Given the description of an element on the screen output the (x, y) to click on. 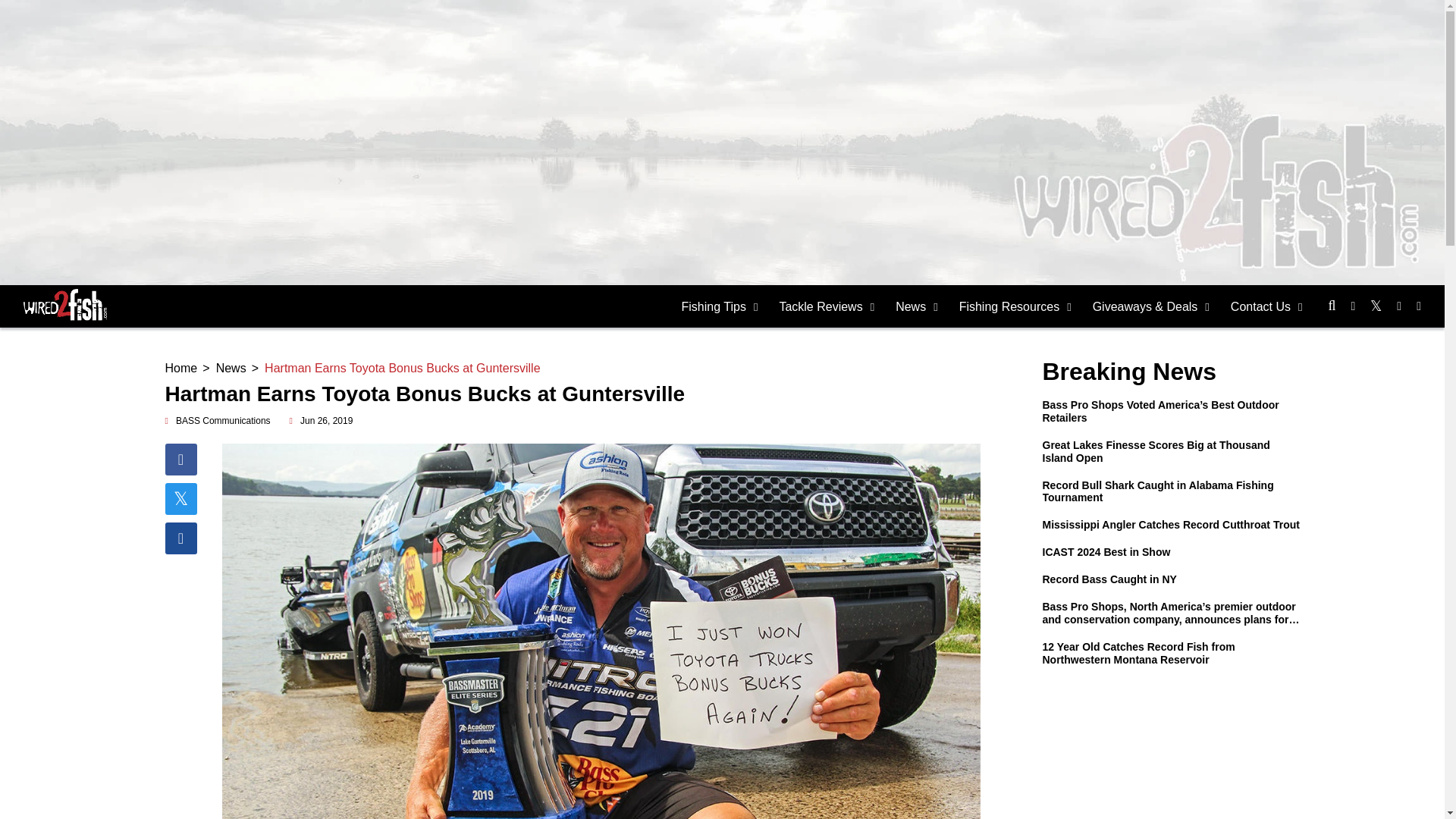
Fishing Tips (719, 306)
